Given the description of an element on the screen output the (x, y) to click on. 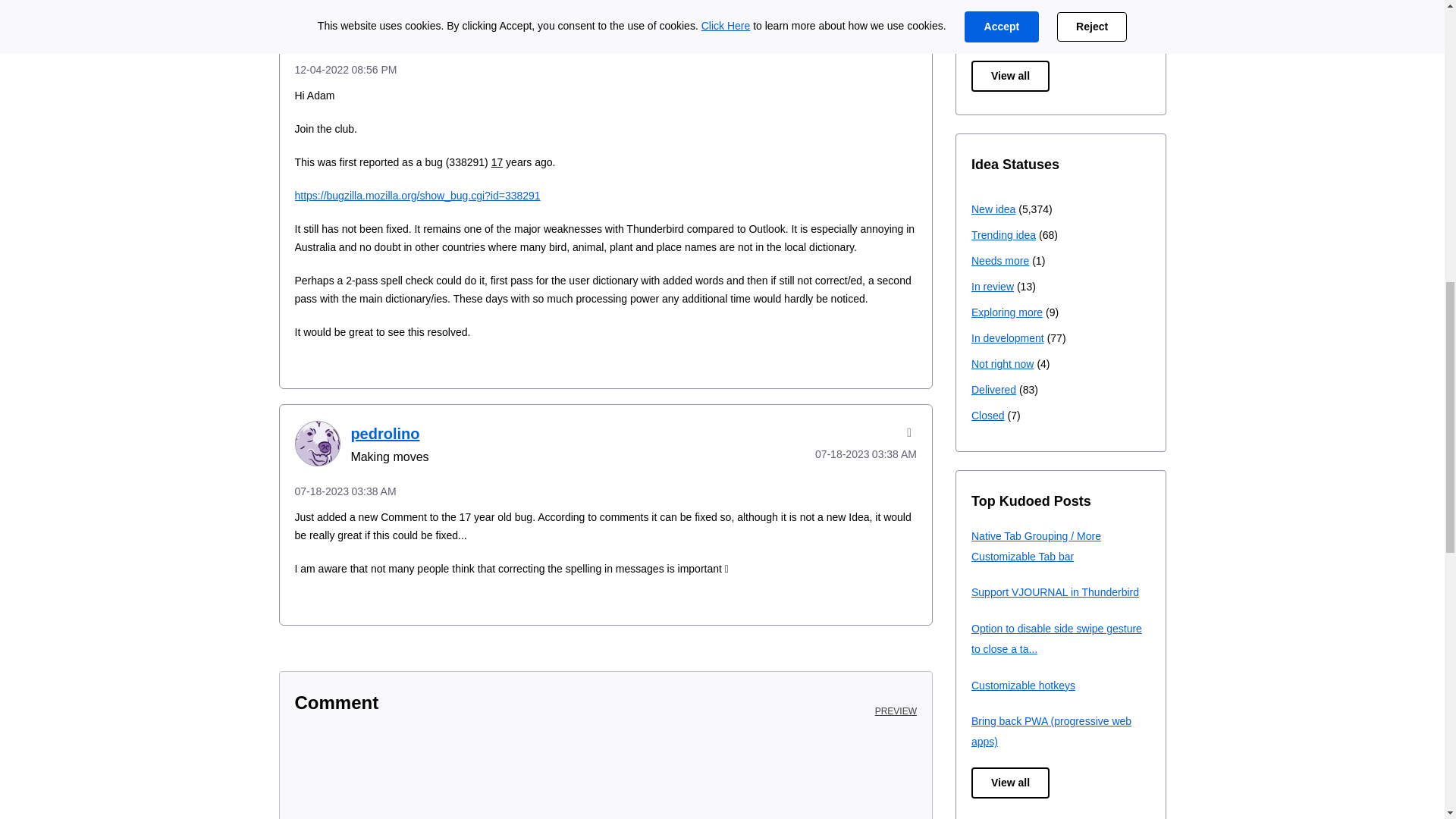
Posted on (845, 31)
erichalfb (316, 22)
Posted on (605, 69)
